Given the description of an element on the screen output the (x, y) to click on. 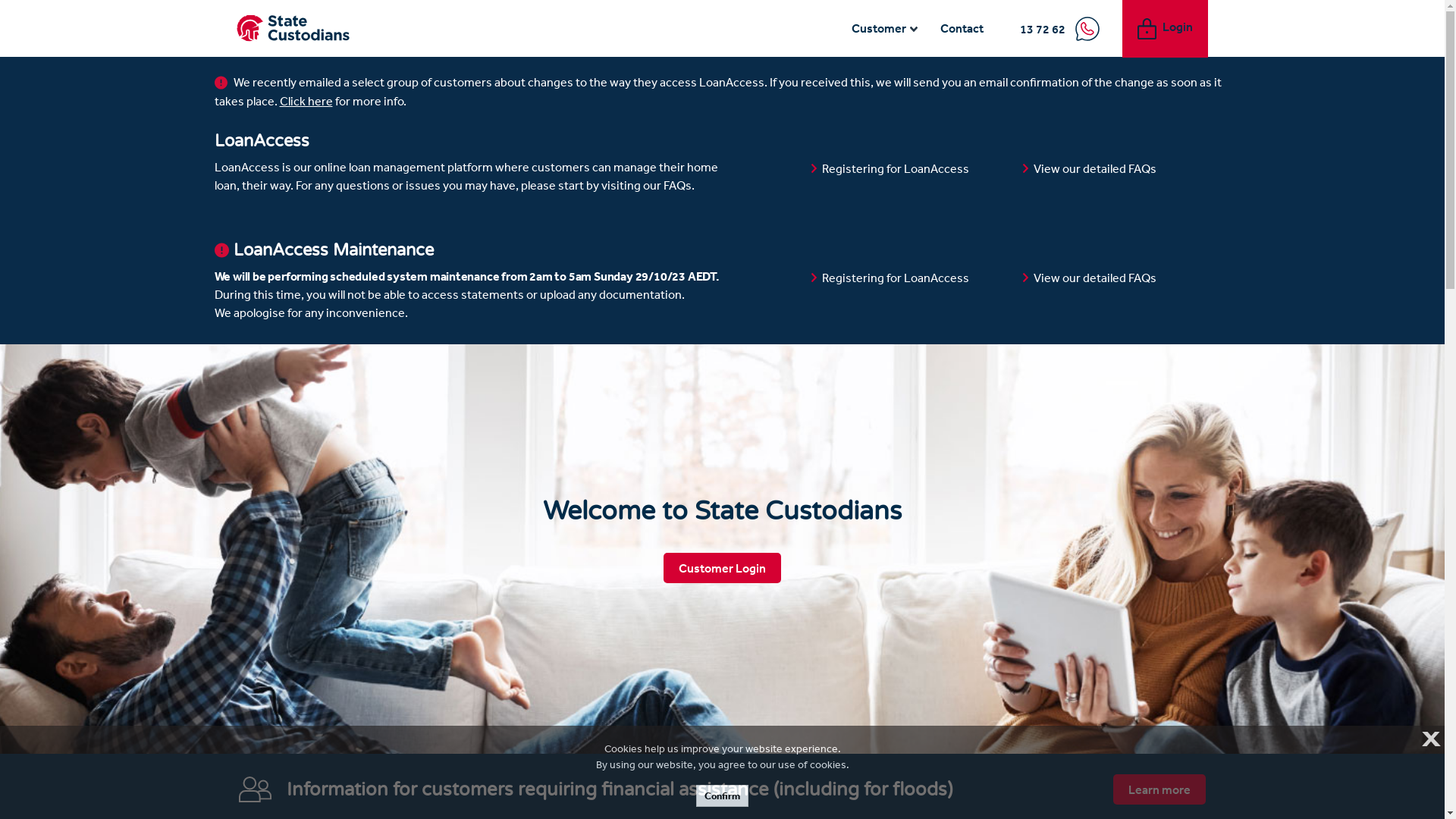
Learn more Element type: text (1159, 789)
Registering for LoanAccess Element type: text (895, 167)
View our detailed FAQs Element type: text (1094, 277)
Contact Element type: text (962, 28)
13 72 62
  Element type: text (1059, 28)
Registering for LoanAccess Element type: text (895, 277)
Confirm Element type: text (722, 795)
Customer Login Element type: text (722, 567)
X Element type: text (1428, 739)
Customer Element type: text (884, 28)
View our detailed FAQs Element type: text (1094, 167)
Click here Element type: text (305, 100)
